Given the description of an element on the screen output the (x, y) to click on. 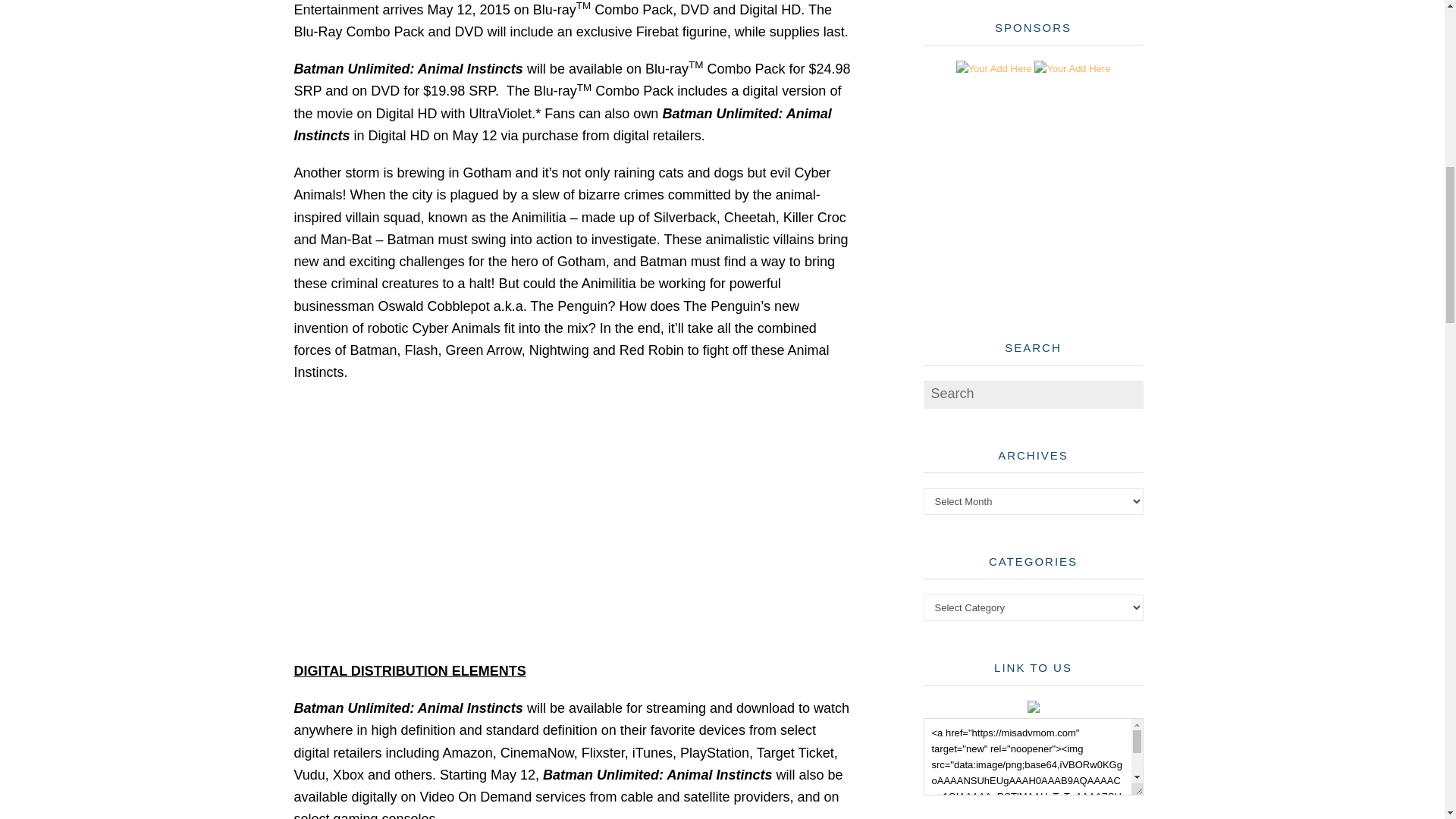
Advertisement (1037, 201)
